Given the description of an element on the screen output the (x, y) to click on. 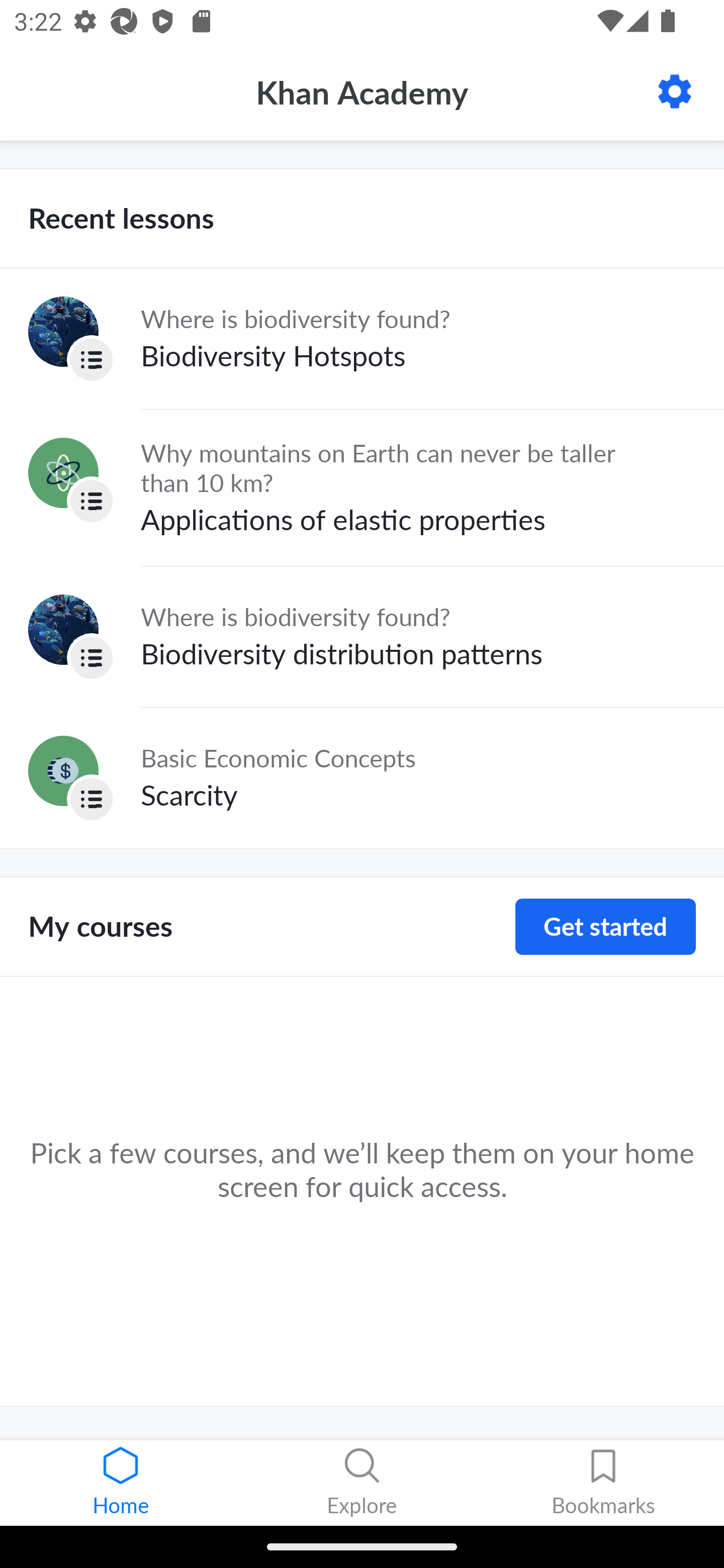
Settings (674, 91)
Lesson Basic Economic Concepts Scarcity (362, 777)
Get started (605, 926)
Home (120, 1482)
Explore (361, 1482)
Bookmarks (603, 1482)
